Given the description of an element on the screen output the (x, y) to click on. 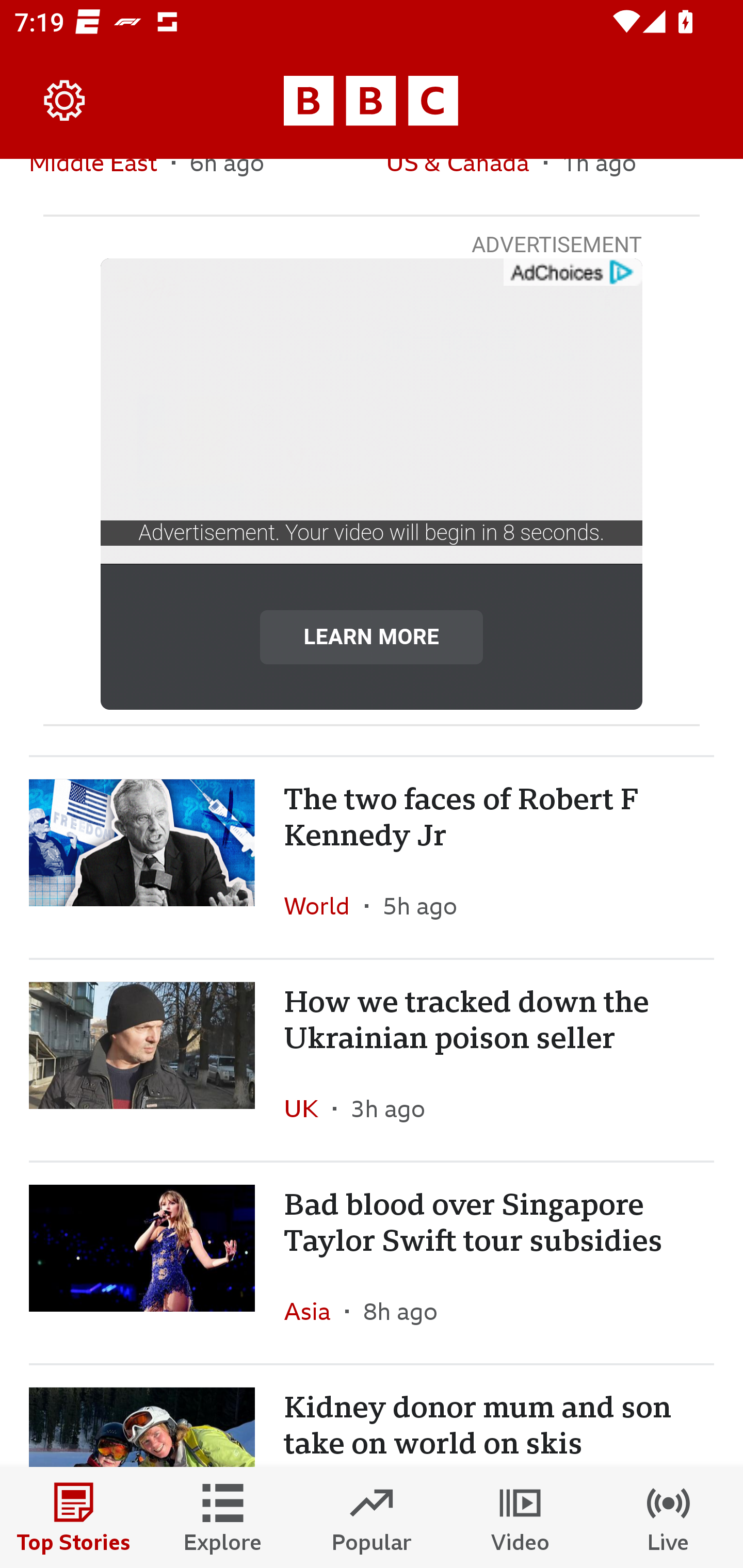
Settings (64, 100)
Middle East In the section Middle East (99, 186)
US & Canada In the section US & Canada (464, 186)
get?name=admarker-full-tl (571, 272)
LEARN MORE (371, 636)
World In the section World (323, 905)
UK In the section UK (307, 1108)
Asia In the section Asia (314, 1310)
Explore (222, 1517)
Popular (371, 1517)
Video (519, 1517)
Live (668, 1517)
